Given the description of an element on the screen output the (x, y) to click on. 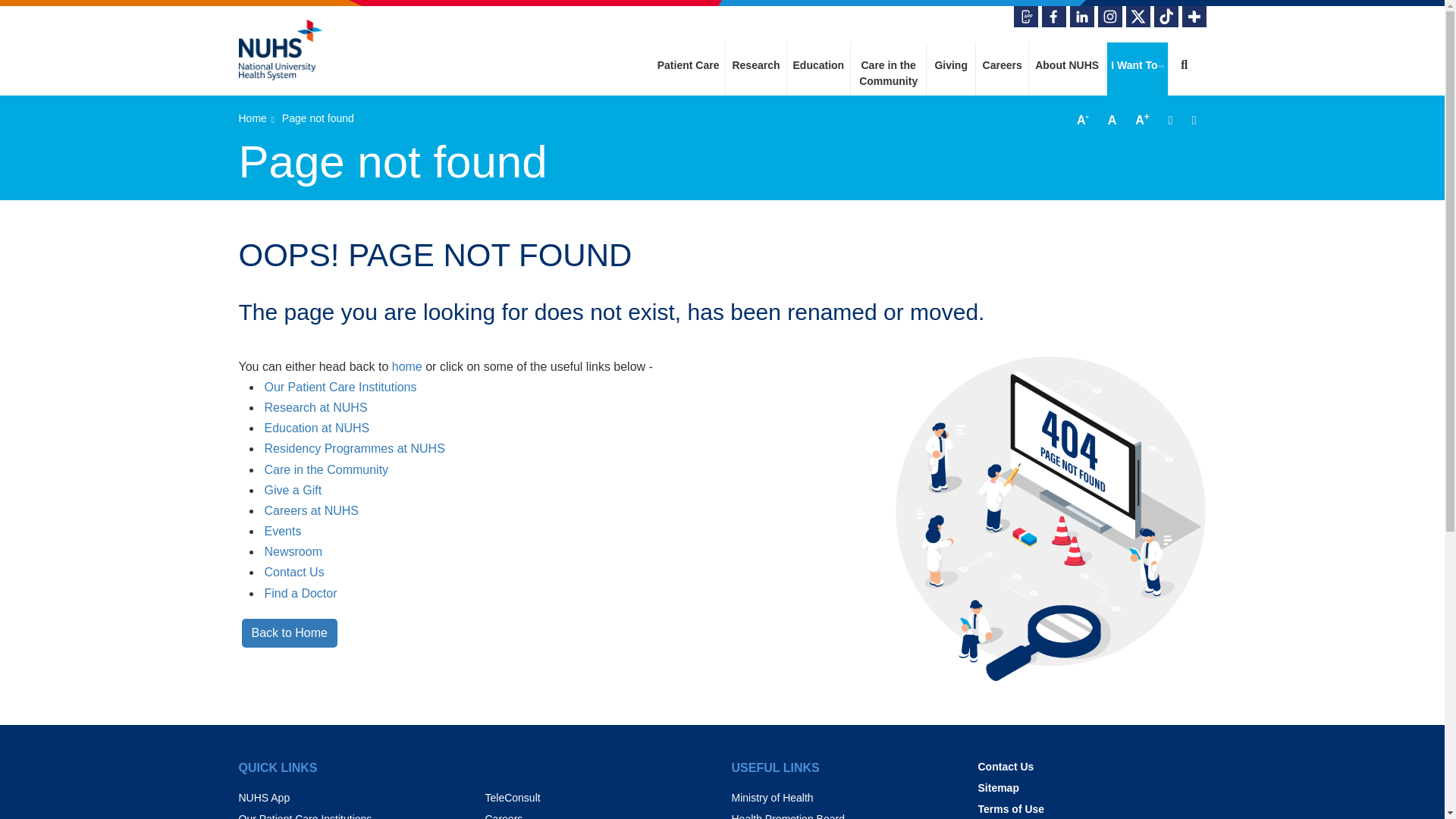
Patient Care (688, 57)
National University Health System (279, 50)
X: National University Health System (1137, 16)
Instagram: National University Health System (1109, 16)
Facebook: National University Health System (1053, 16)
Patient Care (688, 57)
Research (755, 57)
LinkedIn: National University Health System (1080, 16)
NUHS App (1024, 16)
TikTok: National University Health System (1165, 16)
